Given the description of an element on the screen output the (x, y) to click on. 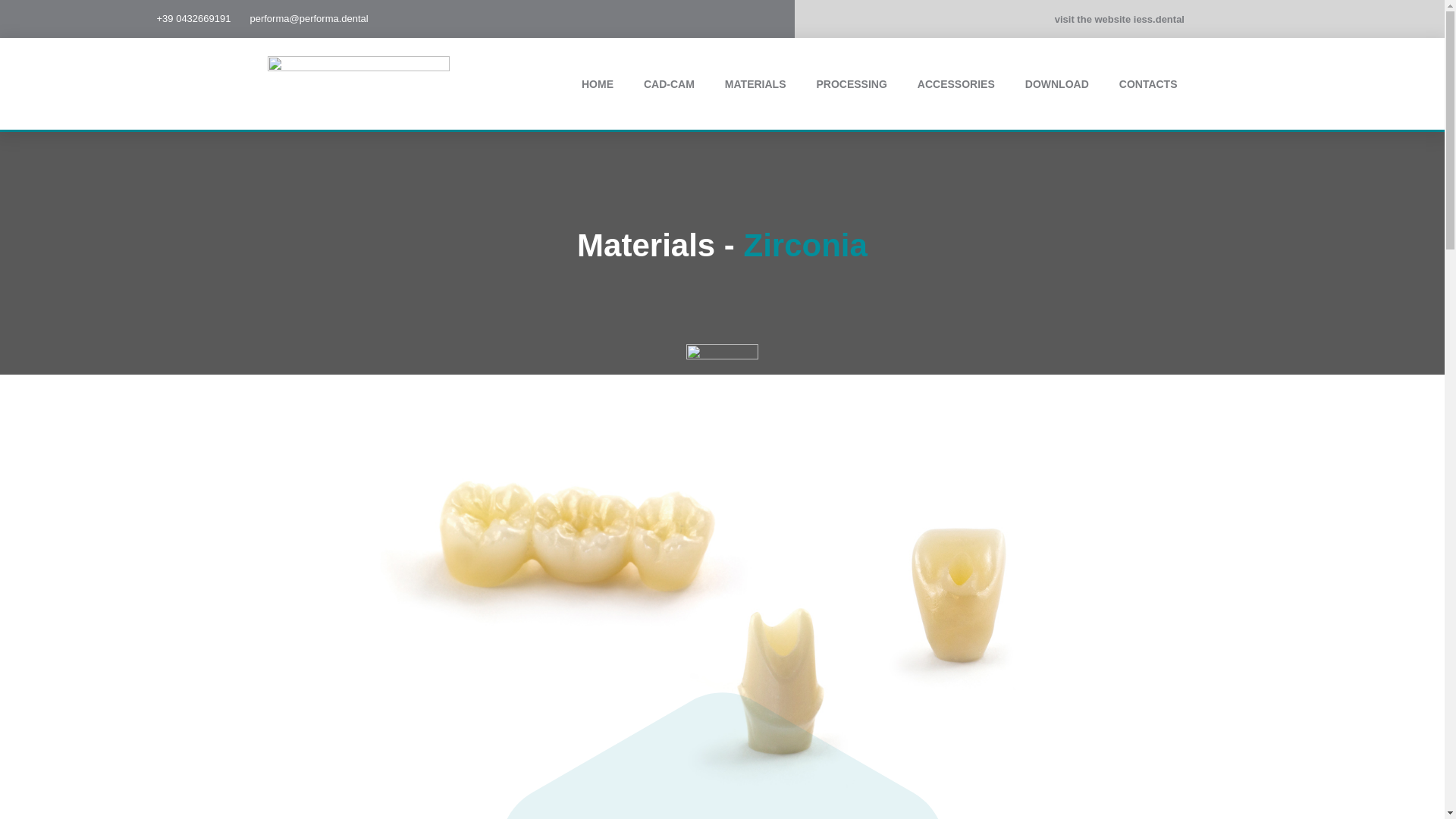
DOWNLOAD (1056, 83)
ACCESSORIES (956, 83)
visit the website iess.dental (1119, 19)
PROCESSING (850, 83)
CAD-CAM (669, 83)
MATERIALS (756, 83)
HOME (597, 83)
CONTACTS (1147, 83)
